Given the description of an element on the screen output the (x, y) to click on. 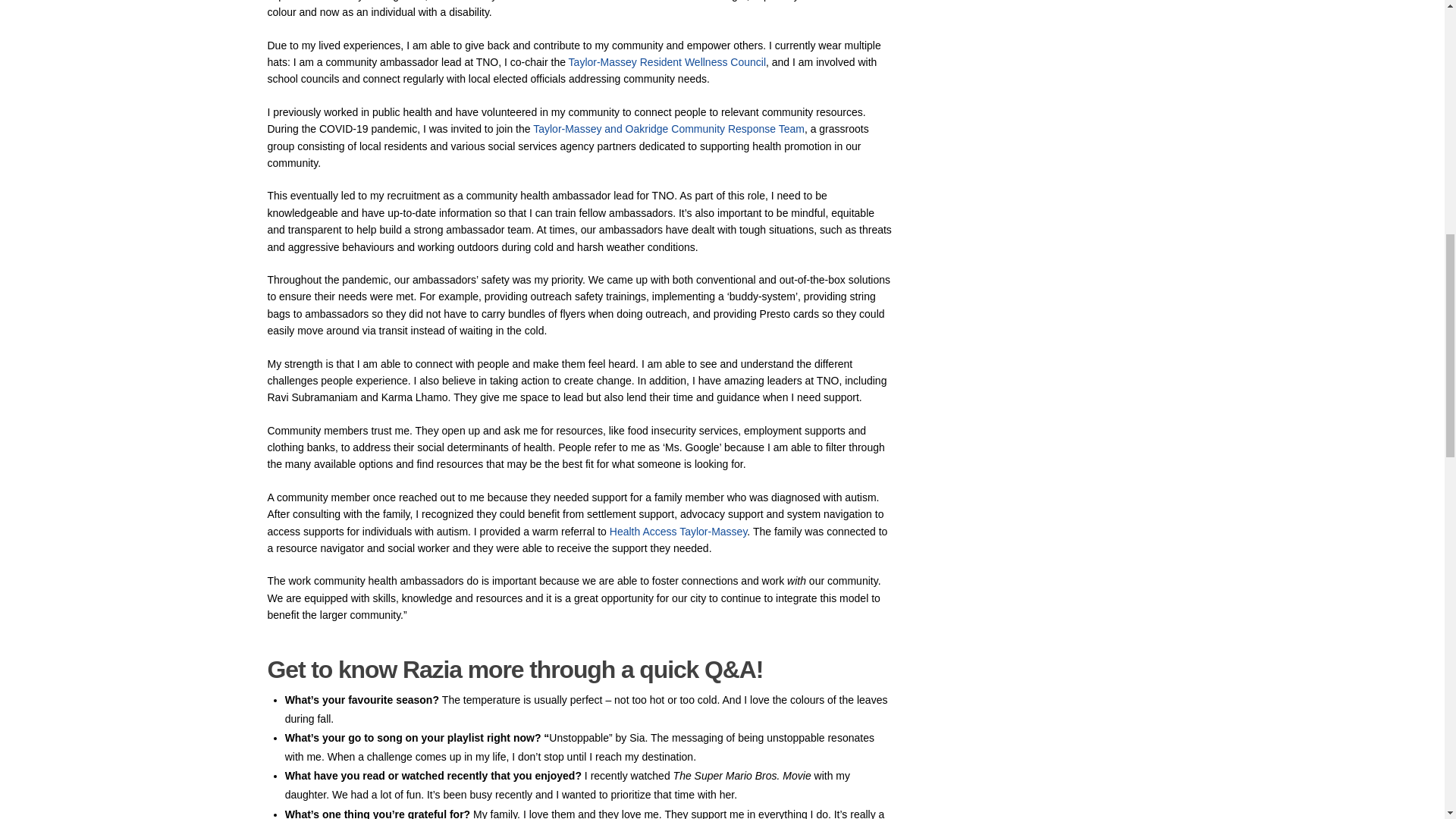
Taylor-Massey Resident Wellness Council (667, 61)
Health Access Taylor-Massey (679, 531)
